Given the description of an element on the screen output the (x, y) to click on. 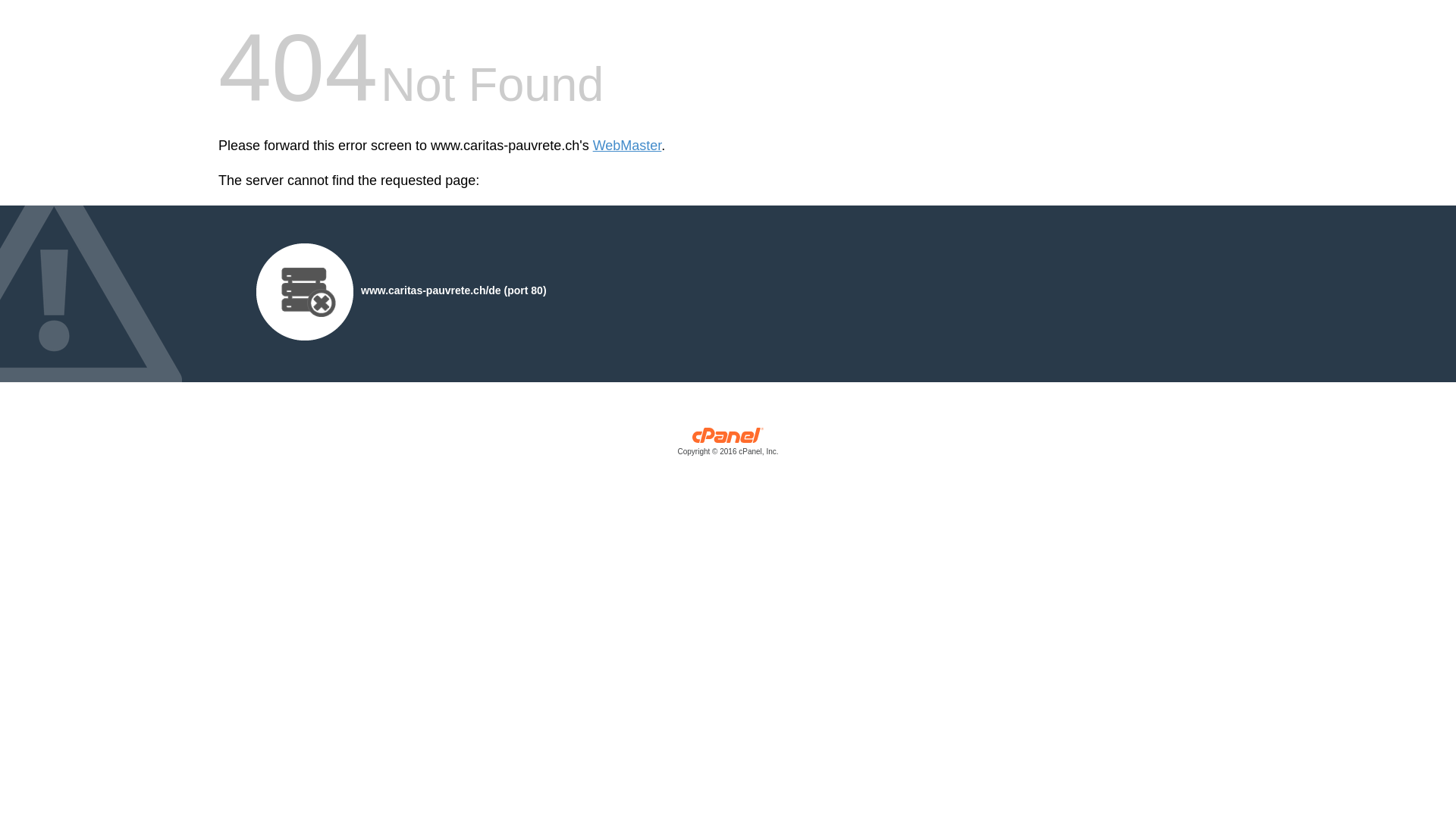
WebMaster Element type: text (627, 145)
